Given the description of an element on the screen output the (x, y) to click on. 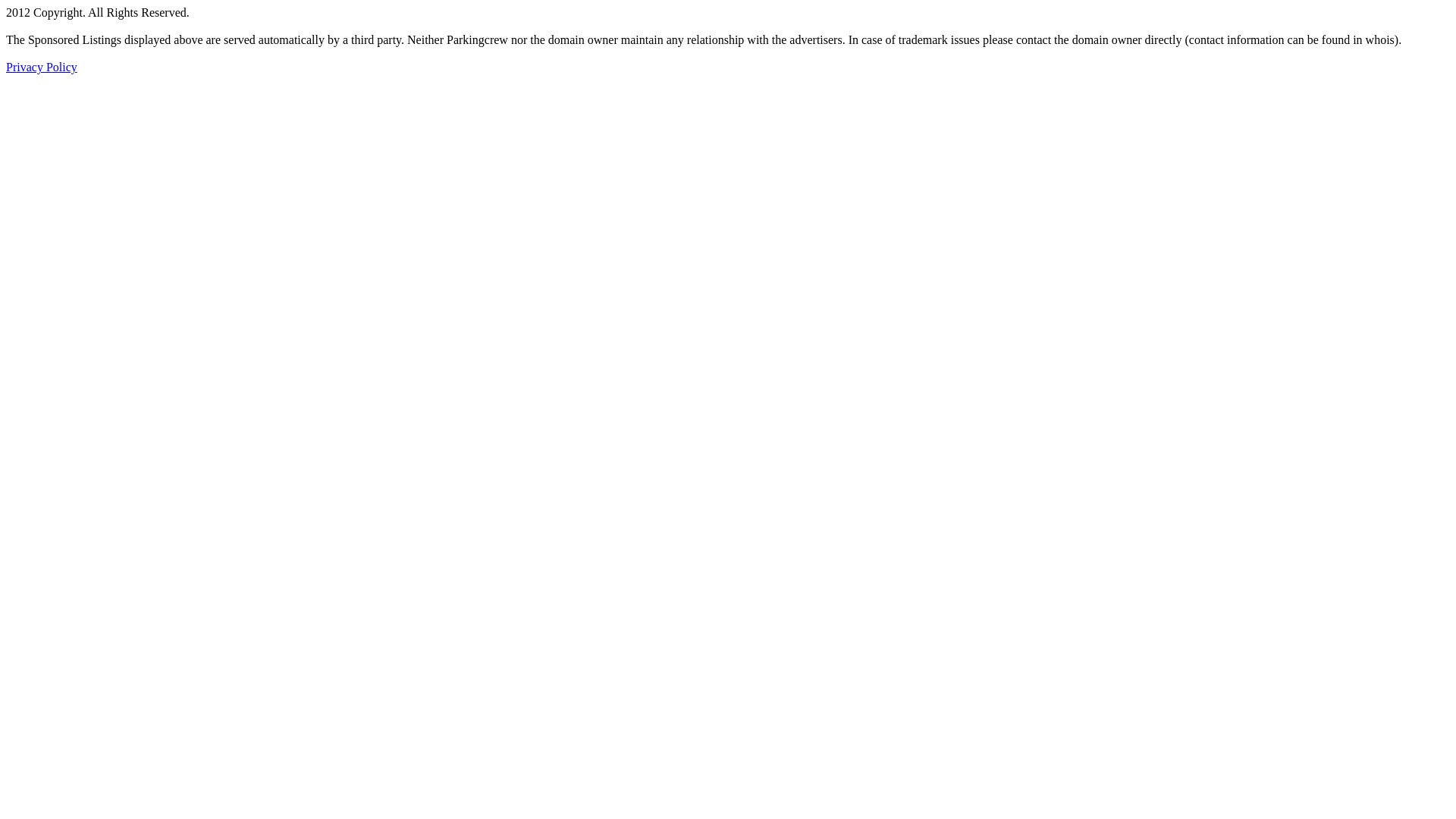
Privacy Policy Element type: text (41, 66)
